Given the description of an element on the screen output the (x, y) to click on. 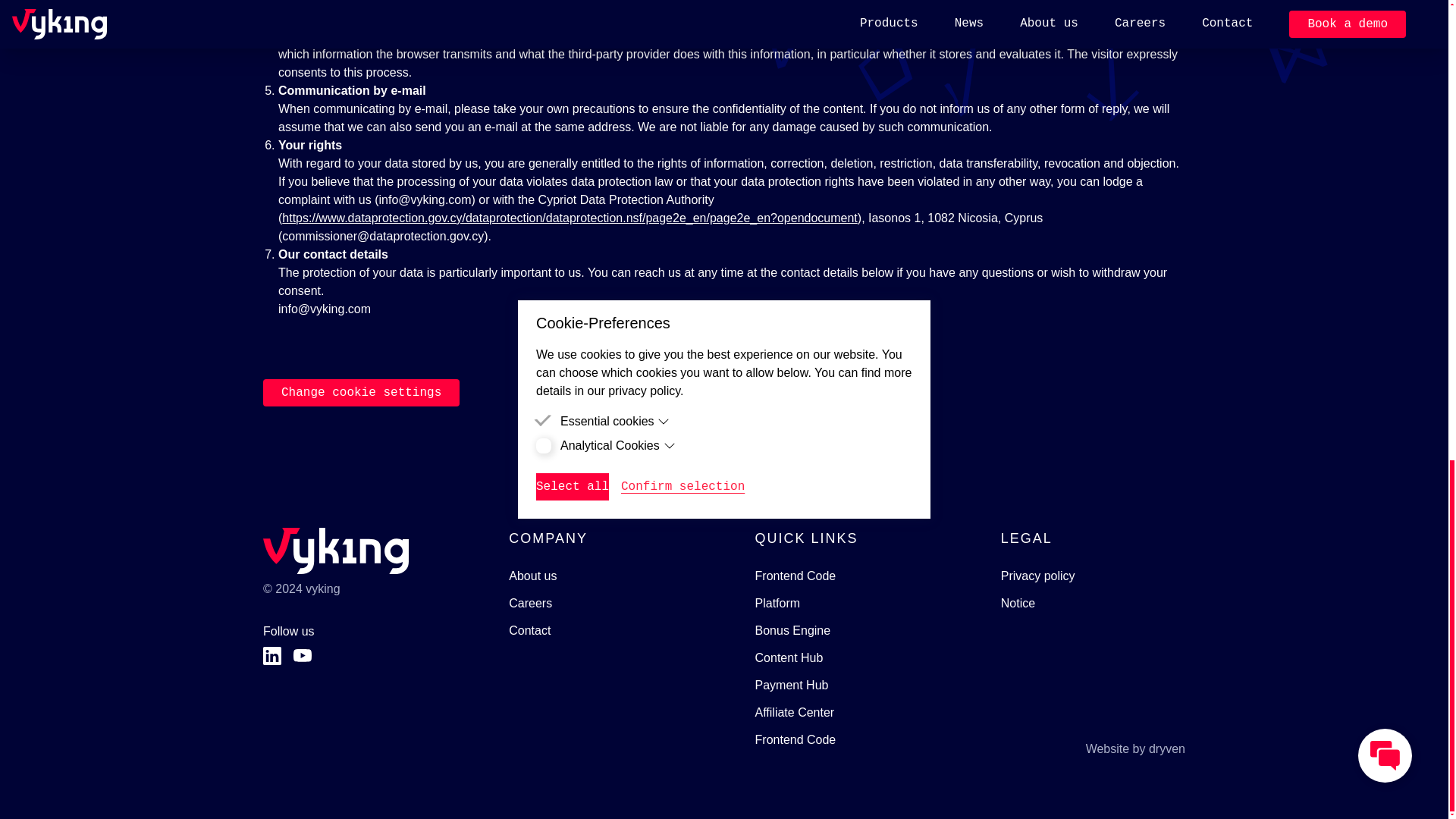
Change cookie settings (361, 392)
Privacy policy (1038, 576)
Frontend Code (795, 740)
Platform (777, 603)
About us (532, 576)
Bonus Engine (793, 630)
Affiliate Center (794, 712)
Contact (529, 630)
Payment Hub (791, 685)
Notice (1018, 603)
Frontend Code (795, 576)
dryven (1166, 748)
Content Hub (789, 658)
Careers (529, 603)
